Given the description of an element on the screen output the (x, y) to click on. 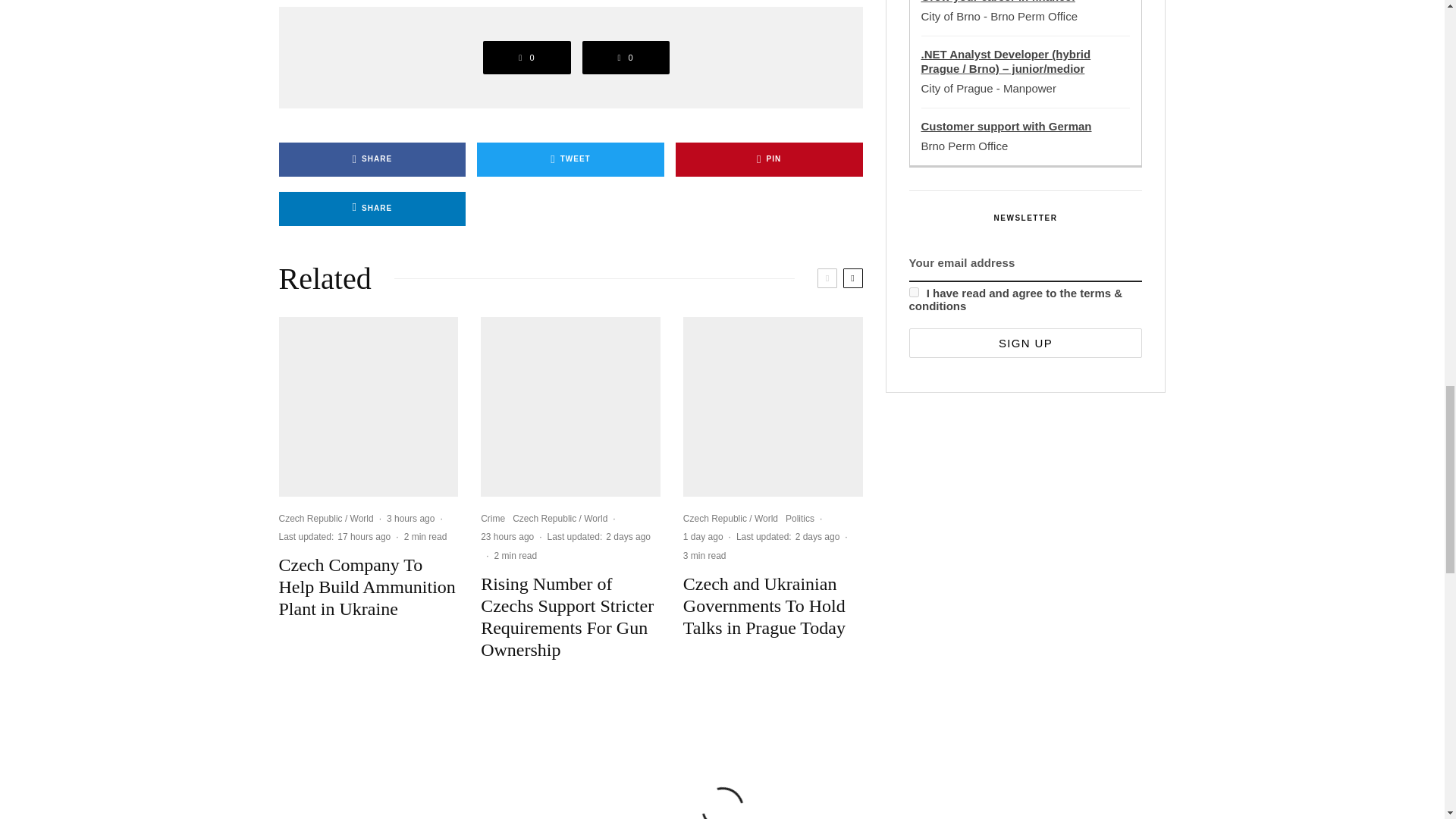
Sign up (1024, 342)
1 (913, 292)
